Given the description of an element on the screen output the (x, y) to click on. 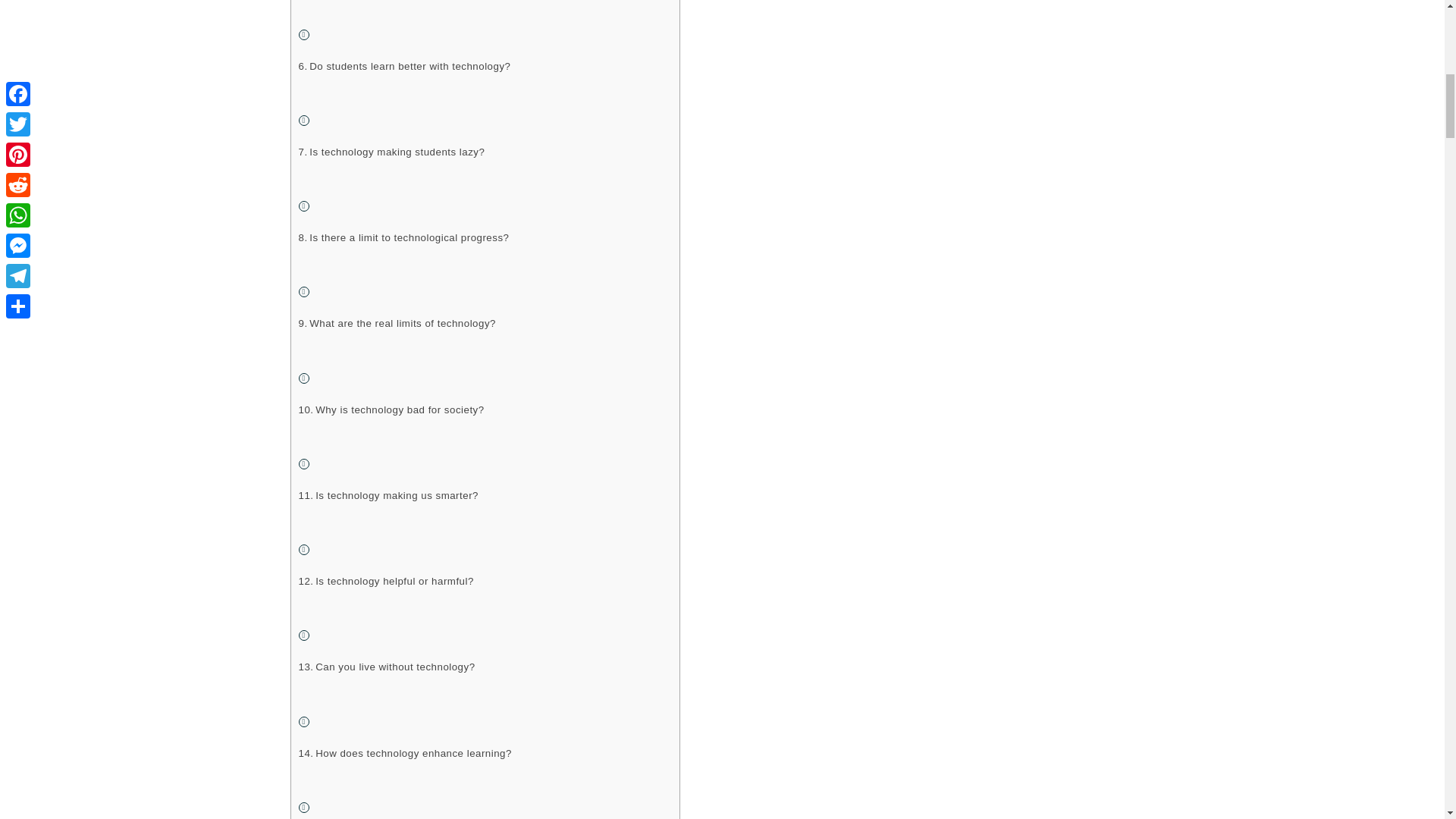
Why is technology bad for society? (391, 409)
Is technology helpful or harmful? (386, 580)
Is technology making us smarter? (388, 495)
Can you live without technology? (387, 666)
What are the real limits of technology? (397, 323)
Is technology helpful or harmful? (386, 580)
Is technology making students lazy? (391, 151)
Is there a limit to technological progress? (403, 237)
Can you live without technology? (387, 666)
How does technology enhance learning? (405, 753)
Is technology making us smarter? (388, 495)
Why is technology bad for society? (391, 409)
Is technology making students lazy? (391, 151)
Do students learn better with technology? (404, 66)
How does technology enhance learning? (405, 753)
